Given the description of an element on the screen output the (x, y) to click on. 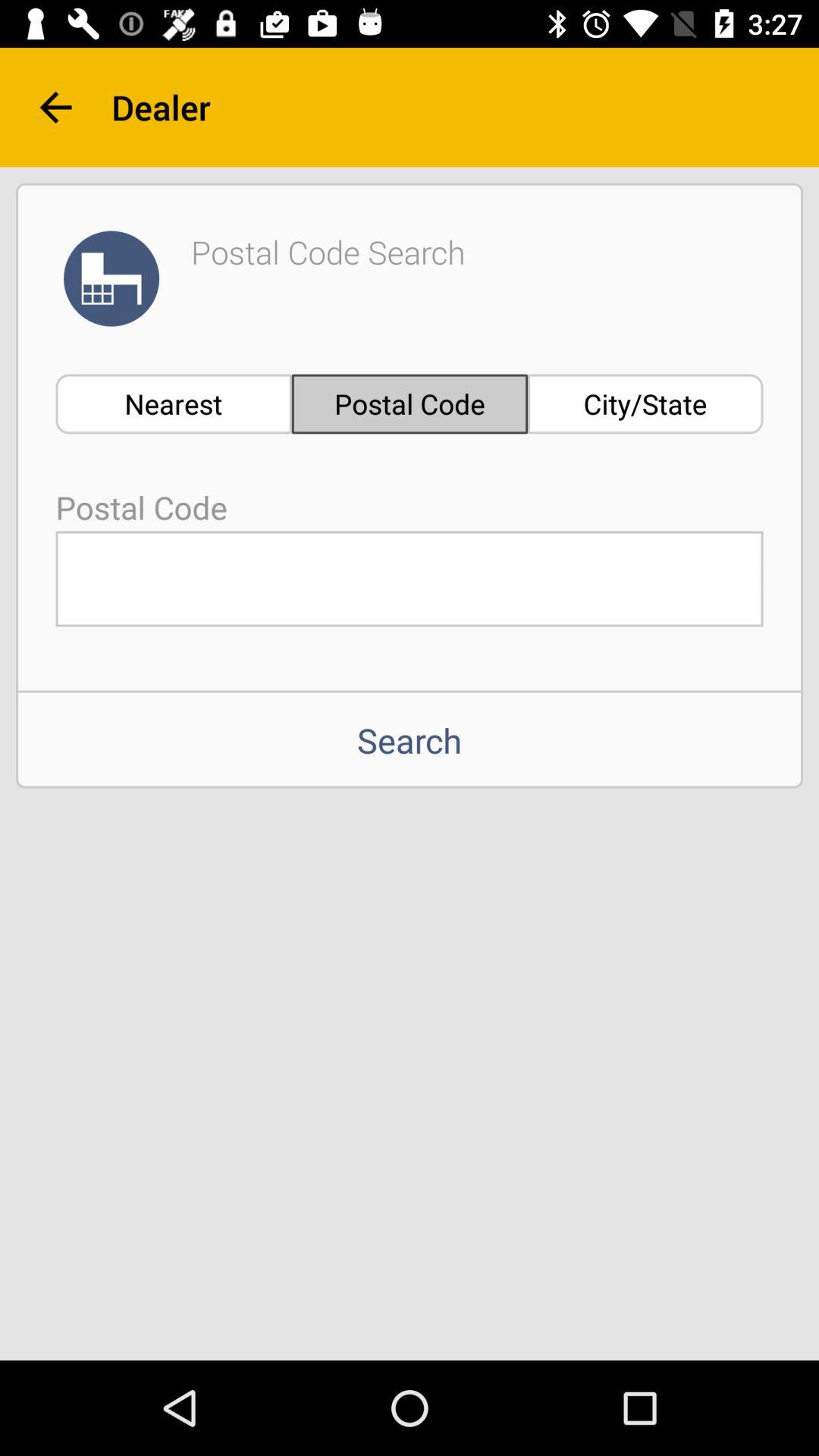
turn off city/state item (645, 403)
